Given the description of an element on the screen output the (x, y) to click on. 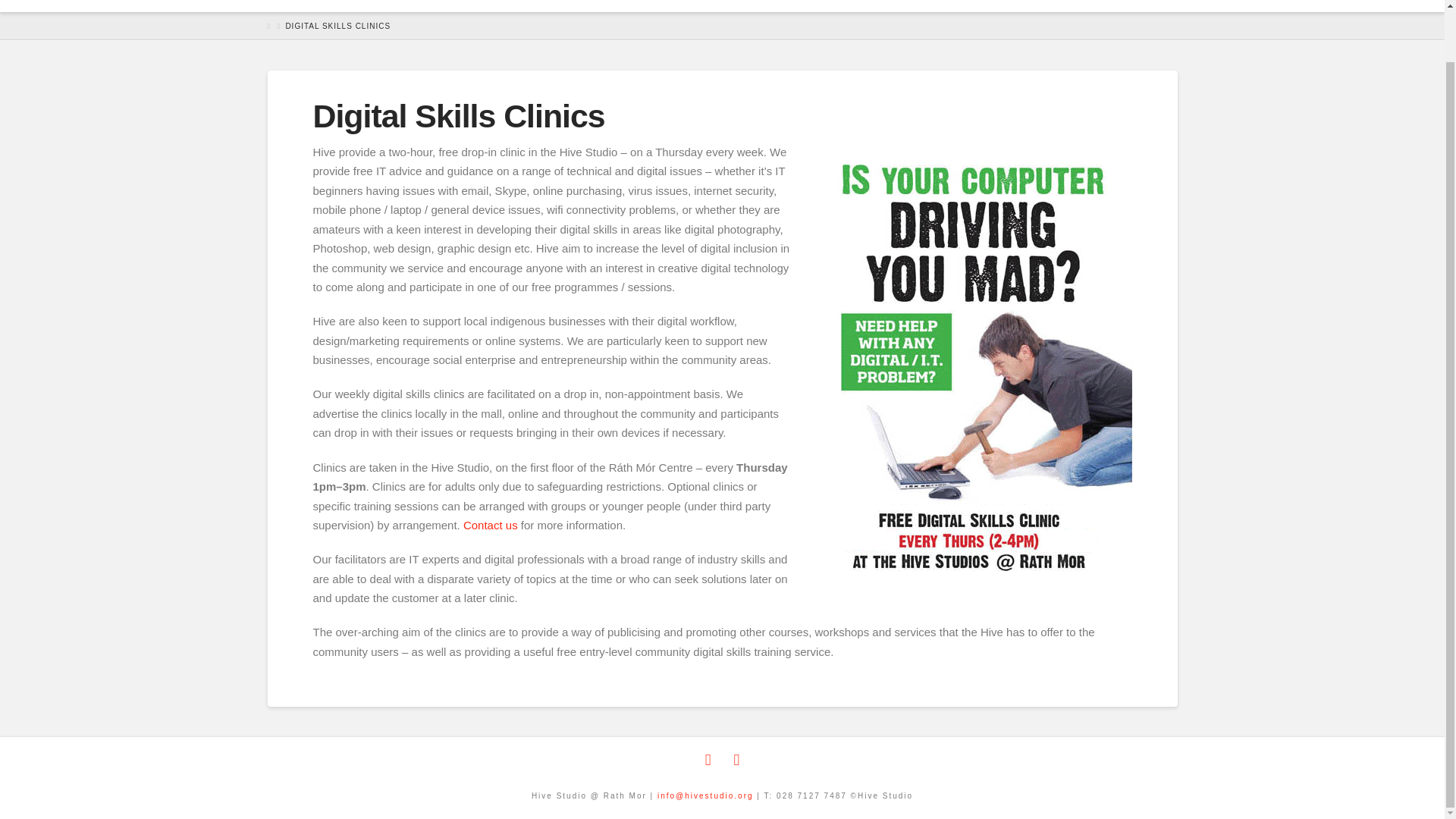
Enquiry (490, 524)
SERVICES (594, 6)
FACILITIES (778, 6)
ABOUT (505, 6)
HOME (434, 6)
EVENTS (687, 6)
Contact us (490, 524)
Digital Creativity in the Community (304, 0)
CONTACT US (1077, 6)
